Given the description of an element on the screen output the (x, y) to click on. 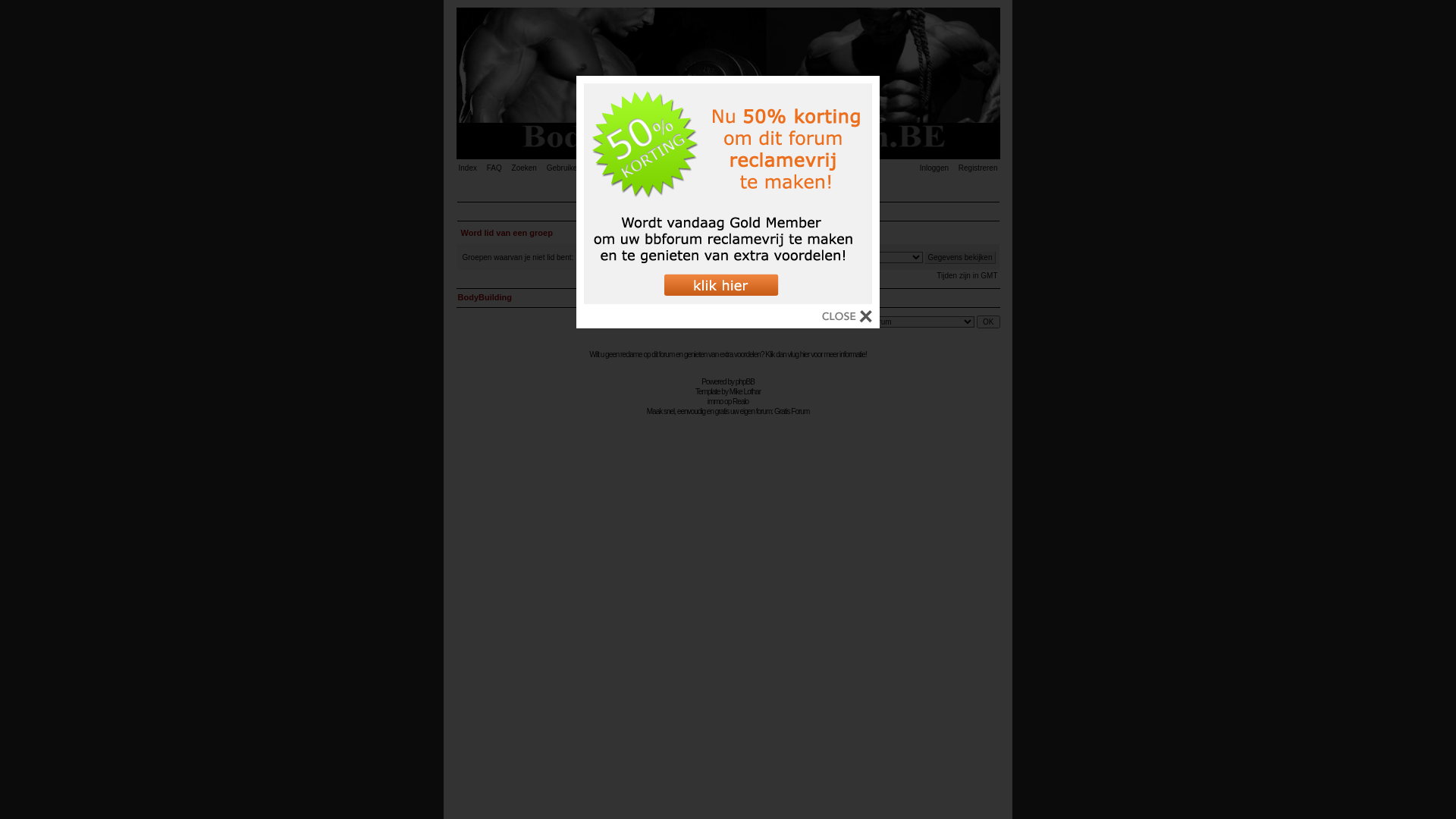
Zoeken Element type: text (527, 167)
FAQ Element type: text (497, 167)
Gebruikerslijst Element type: text (574, 167)
Inloggen Element type: text (930, 167)
Gebruikersgroepen Element type: text (640, 167)
Index Element type: text (470, 167)
Registreren Element type: text (973, 167)
Gegevens bekijken Element type: text (959, 256)
sluiten Element type: hover (847, 319)
BodyBuilding Element type: text (485, 296)
Gratis Forum Element type: text (791, 411)
OK Element type: text (987, 321)
hier Element type: text (804, 354)
immo op Realo Element type: text (727, 401)
phpBB Element type: text (744, 381)
klik voor meer informatie Element type: hover (727, 301)
Viraal Nieuws Element type: text (728, 188)
Mike Lothar Element type: text (744, 391)
